Given the description of an element on the screen output the (x, y) to click on. 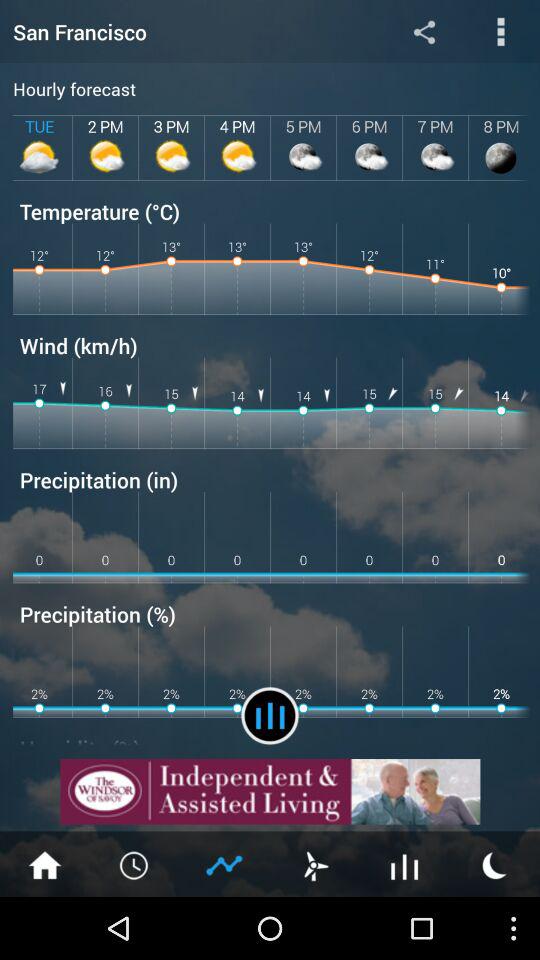
click to forcast icon (269, 715)
